Given the description of an element on the screen output the (x, y) to click on. 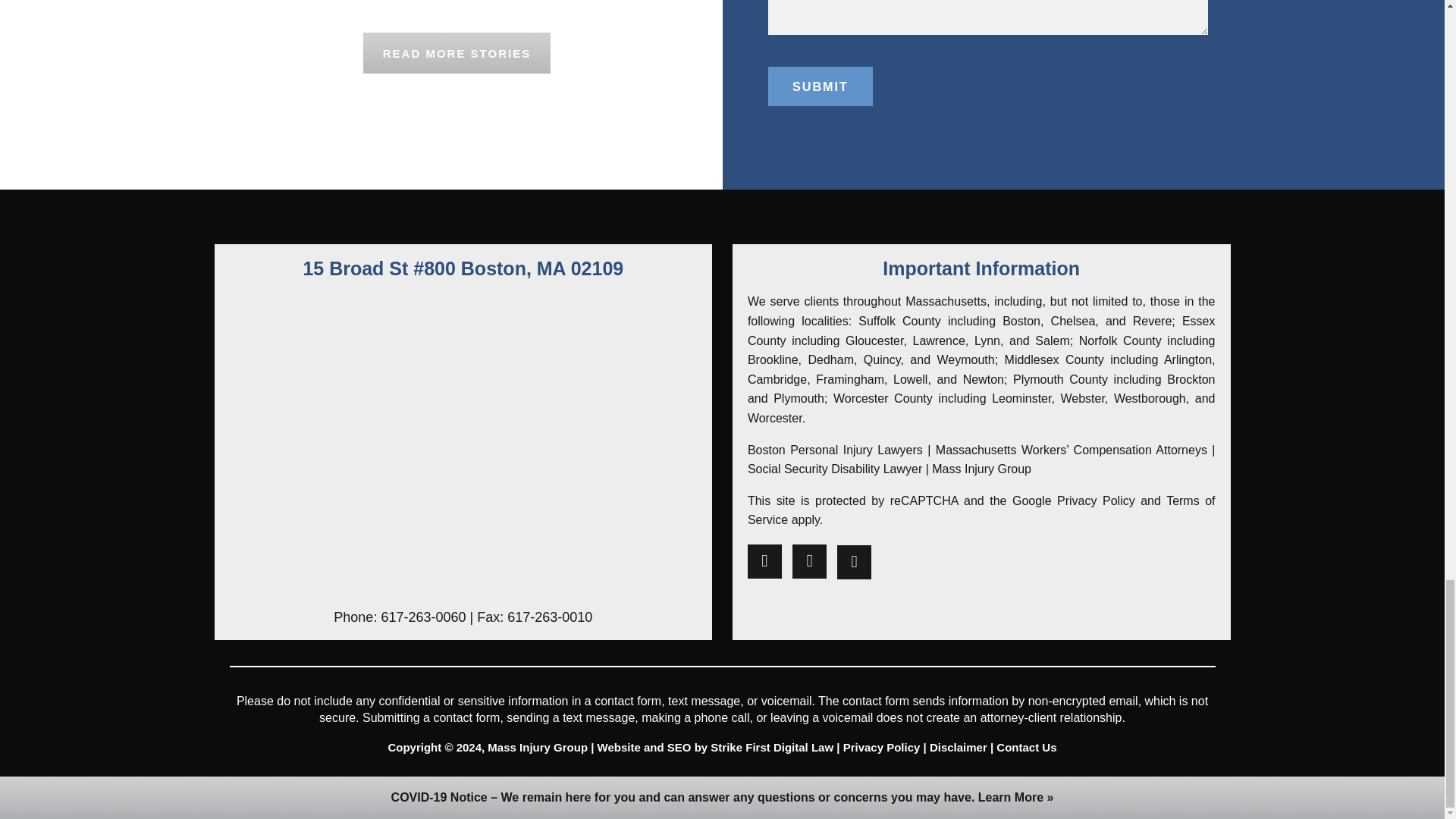
READ MORE STORIES (456, 52)
SUBMIT (819, 86)
